Given the description of an element on the screen output the (x, y) to click on. 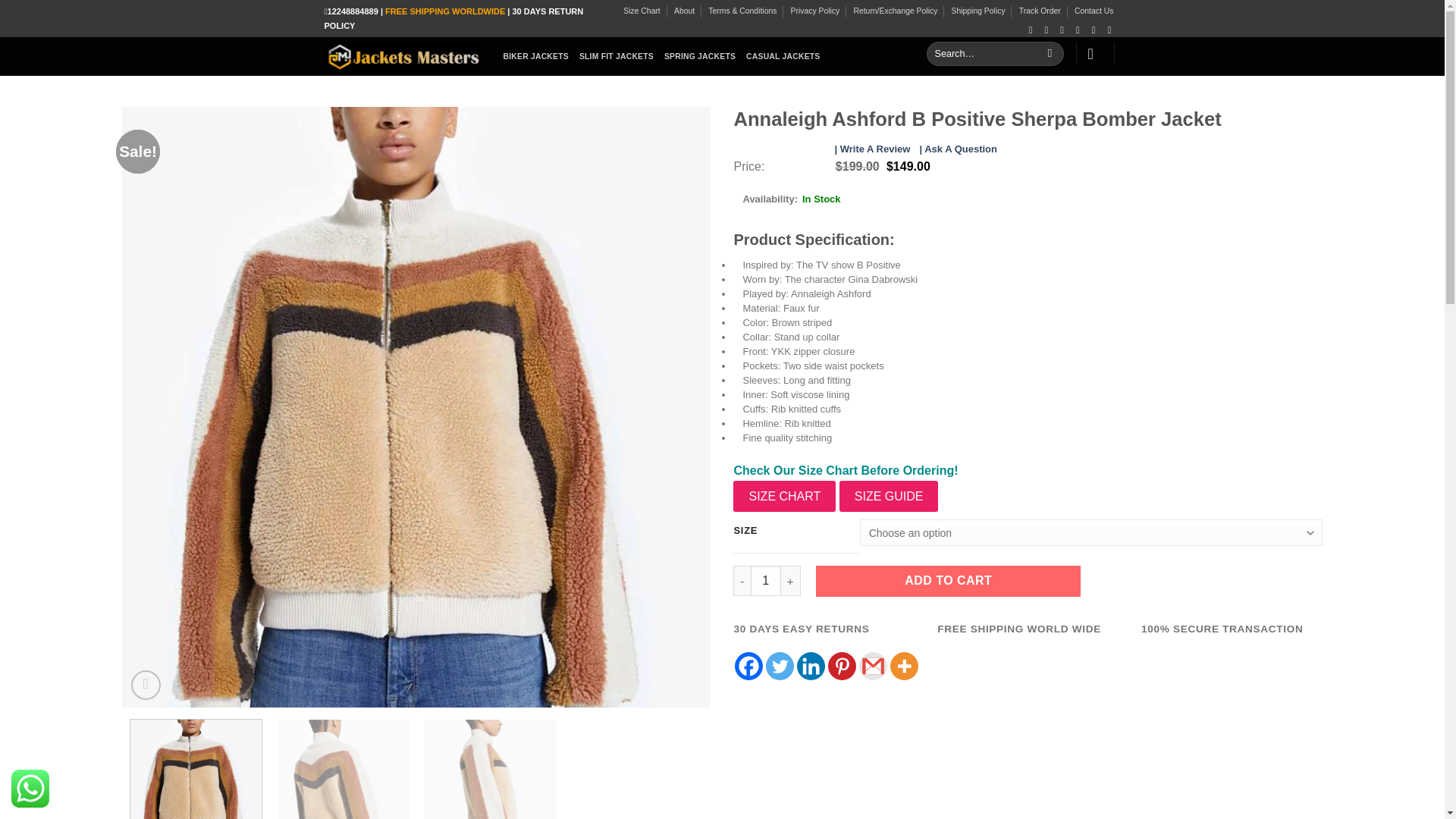
Twitter (779, 665)
Shipping Policy (979, 11)
CASUAL JACKETS (782, 56)
BIKER JACKETS (536, 56)
Search (1050, 53)
Qty (765, 580)
Facebook (748, 665)
Privacy Policy (815, 11)
SLIM FIT JACKETS (616, 56)
About (684, 11)
Contact Us (1093, 11)
Google Gmail (872, 665)
12248884889 (352, 10)
SPRING JACKETS (699, 56)
More (903, 665)
